Given the description of an element on the screen output the (x, y) to click on. 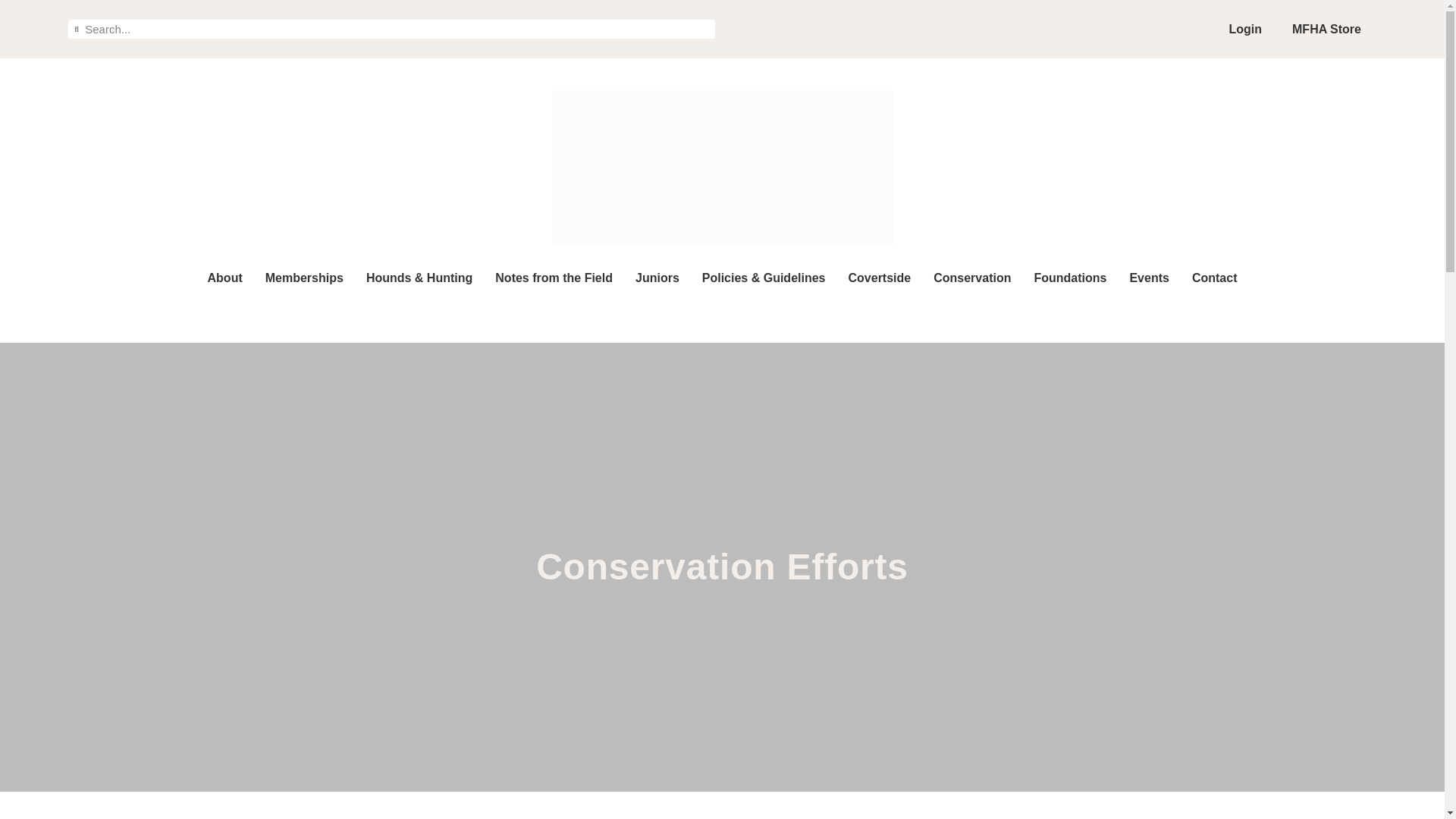
Notes from the Field (553, 277)
MFHA Store (1325, 28)
About (225, 277)
Memberships (303, 277)
Login (1244, 28)
Juniors (657, 277)
